Given the description of an element on the screen output the (x, y) to click on. 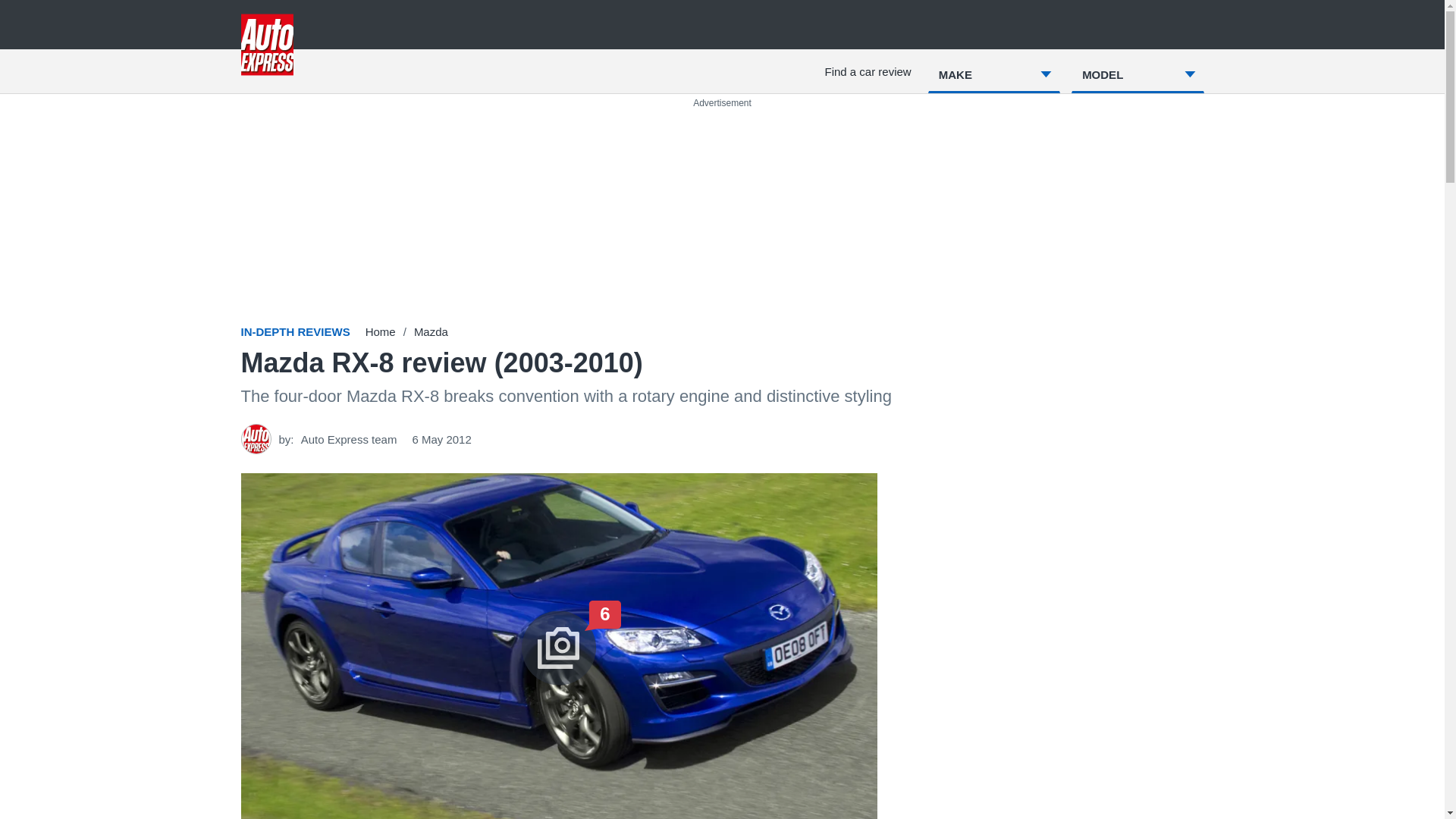
Mazda (430, 331)
Home (380, 331)
